Given the description of an element on the screen output the (x, y) to click on. 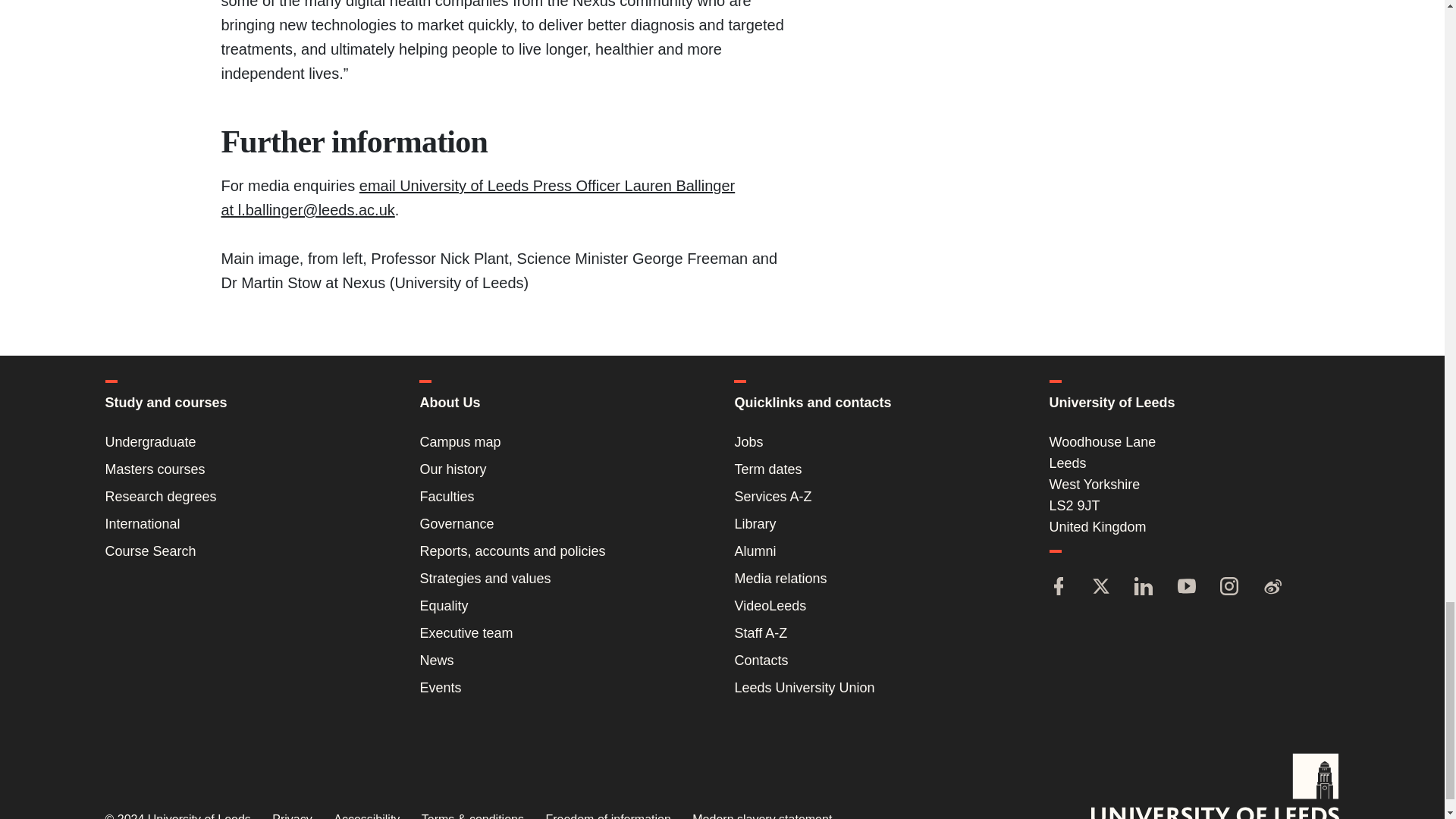
Go to Freedom of information page (606, 816)
Go to Modern slavery statement page (762, 816)
Go to Privacy page (291, 816)
Go to Accessibility page (365, 816)
